Given the description of an element on the screen output the (x, y) to click on. 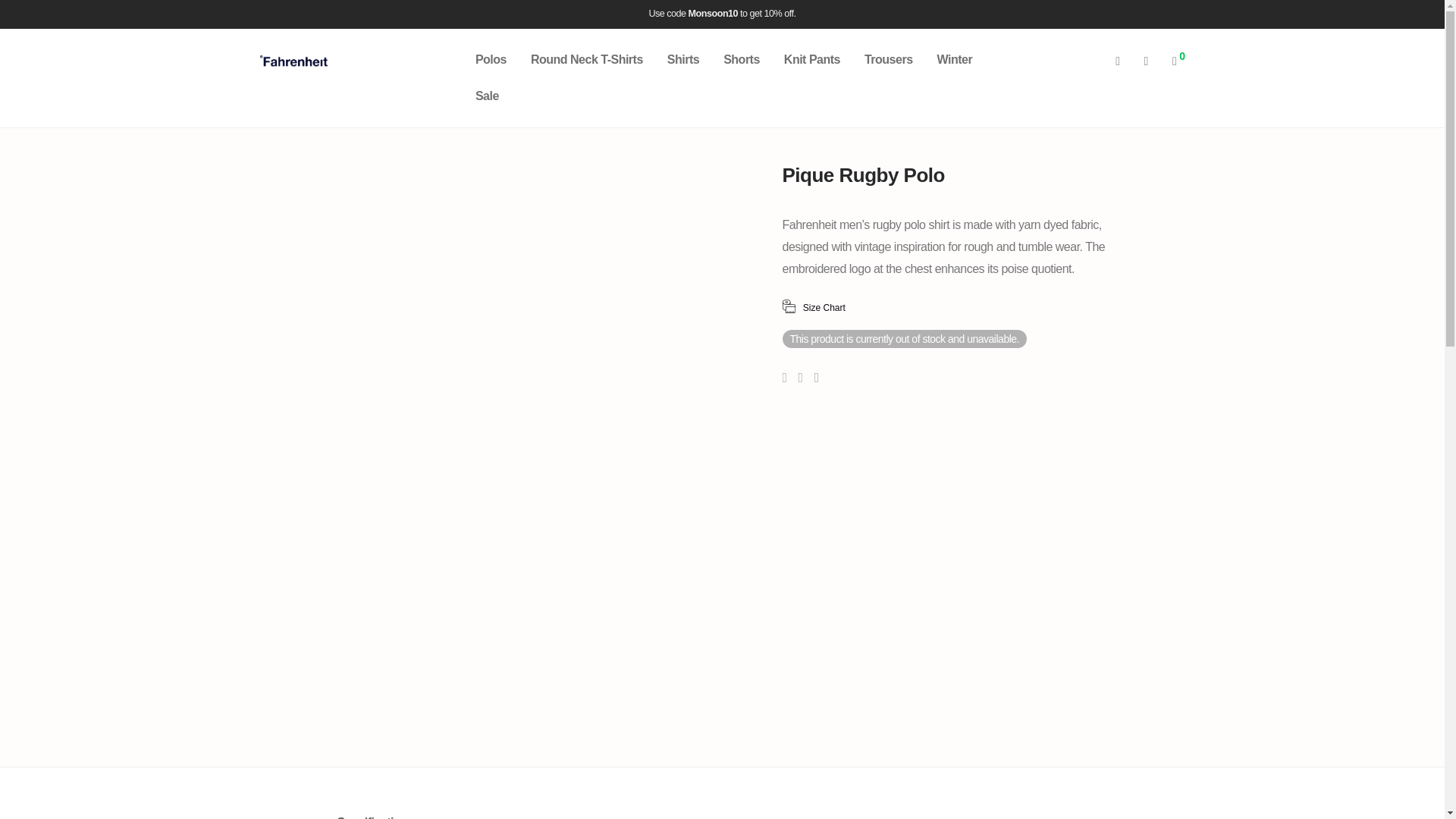
Shirts (683, 59)
Knit Pants (811, 59)
Round Neck T-Shirts (586, 59)
Polos (490, 59)
Shorts (741, 59)
